Given the description of an element on the screen output the (x, y) to click on. 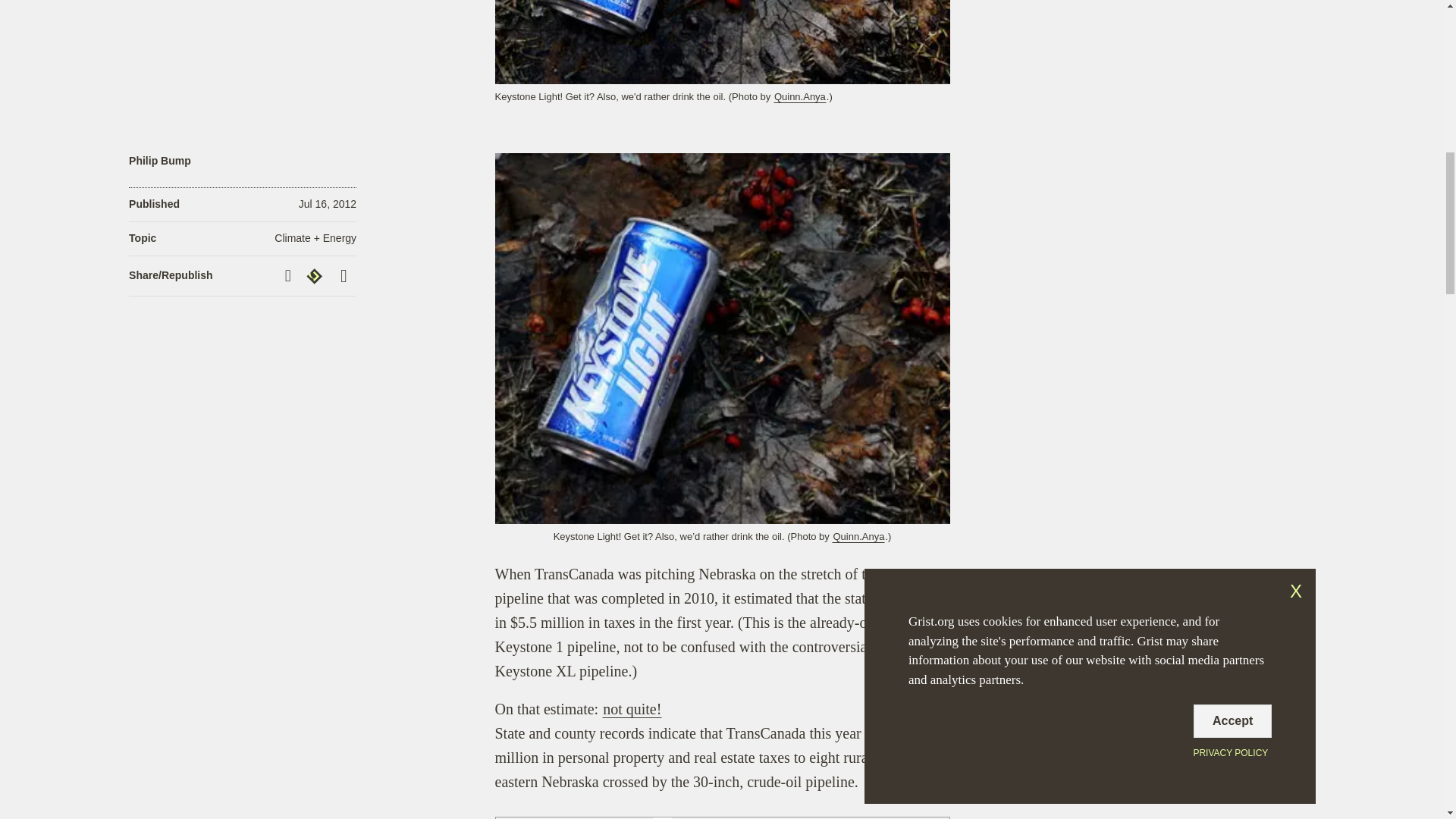
Copy article link (289, 275)
Republish the article (316, 275)
